Given the description of an element on the screen output the (x, y) to click on. 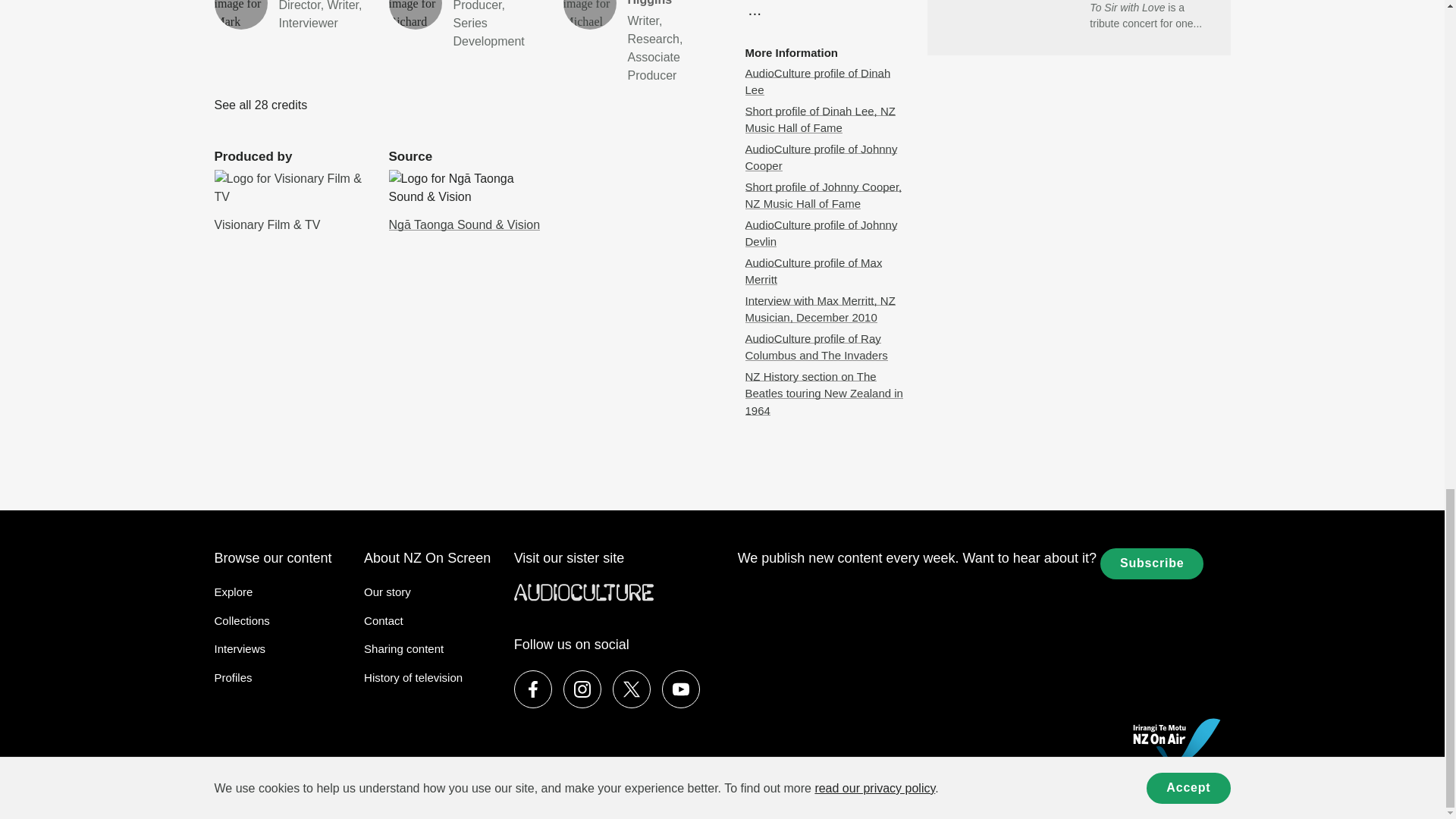
See all 28 credits (464, 25)
Check out Twitter (260, 104)
Check out Instagram (631, 689)
Connect with us on Facebook (582, 689)
Watch more on YouTube (289, 16)
